Given the description of an element on the screen output the (x, y) to click on. 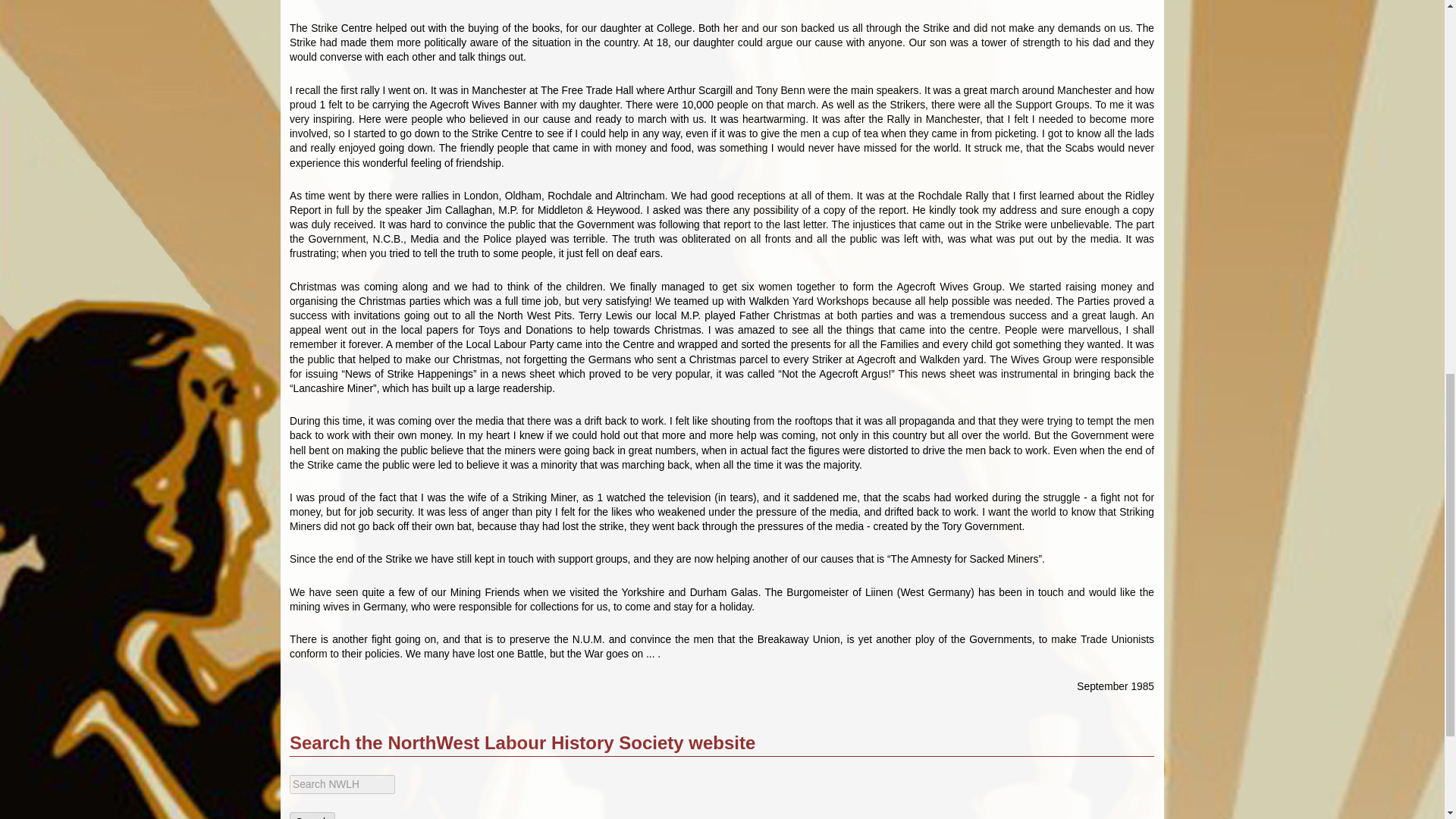
Search (311, 815)
Search (311, 815)
Enter the terms you wish to search for. (341, 783)
